Given the description of an element on the screen output the (x, y) to click on. 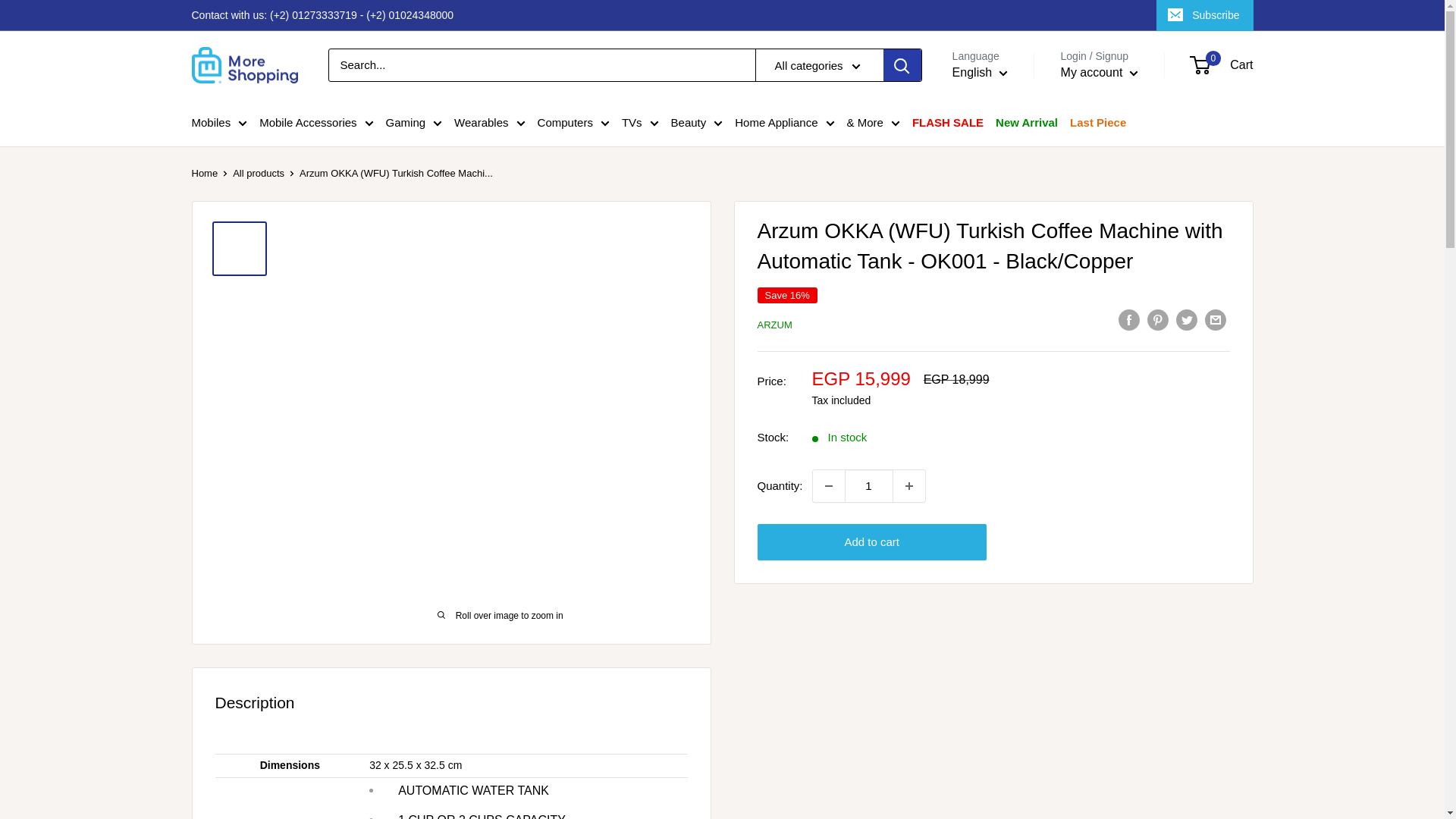
Subscribe (1204, 15)
Increase quantity by 1 (908, 486)
1 (868, 486)
Decrease quantity by 1 (828, 486)
